Given the description of an element on the screen output the (x, y) to click on. 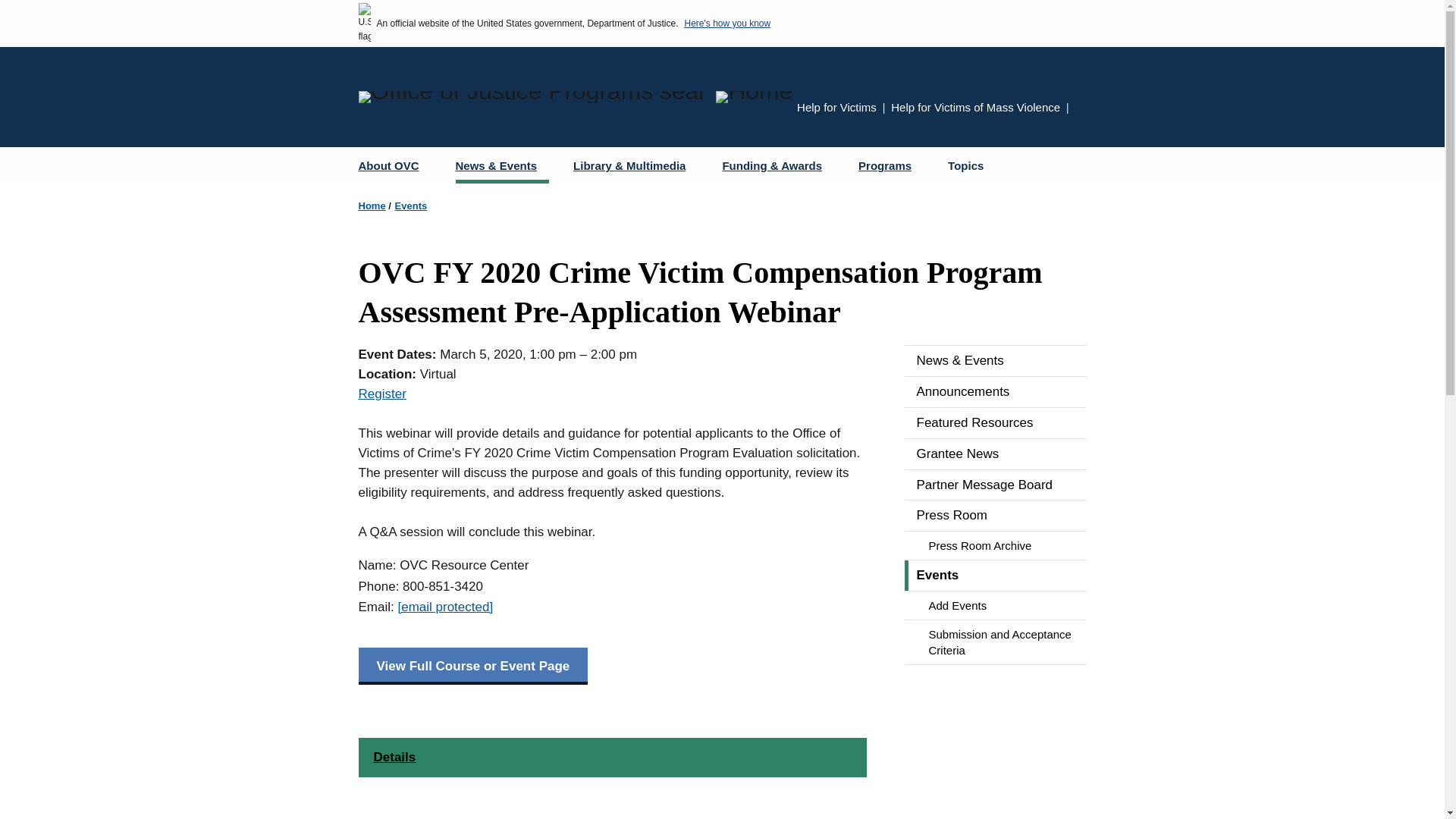
Grantee News (995, 453)
Add Events (995, 605)
Here's how you know (727, 23)
Topics (965, 165)
Help for Victims of Mass Violence (975, 107)
Details (612, 757)
Share (1080, 108)
Help for Victims (836, 107)
About OVC (394, 165)
Programs (890, 165)
